Given the description of an element on the screen output the (x, y) to click on. 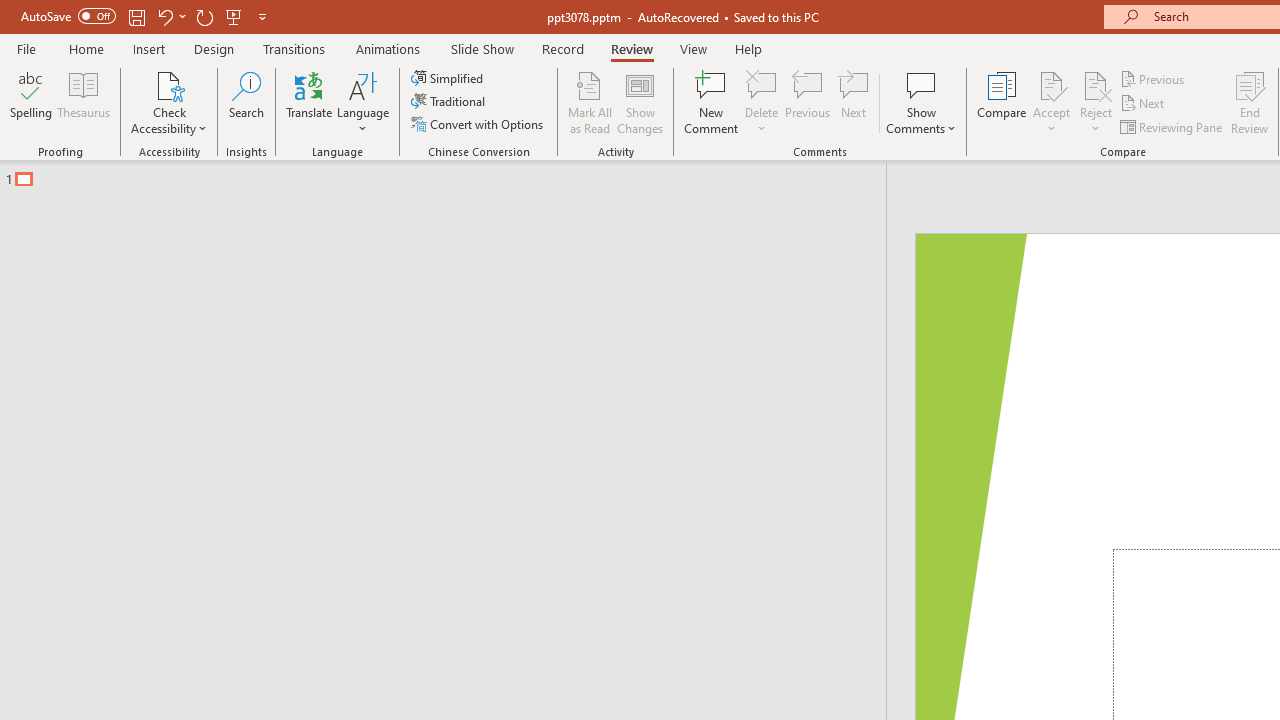
Reviewing Pane (1172, 126)
Thesaurus... (83, 102)
Convert with Options... (479, 124)
Previous (1153, 78)
Reject Change (1096, 84)
Compare (1002, 102)
